Given the description of an element on the screen output the (x, y) to click on. 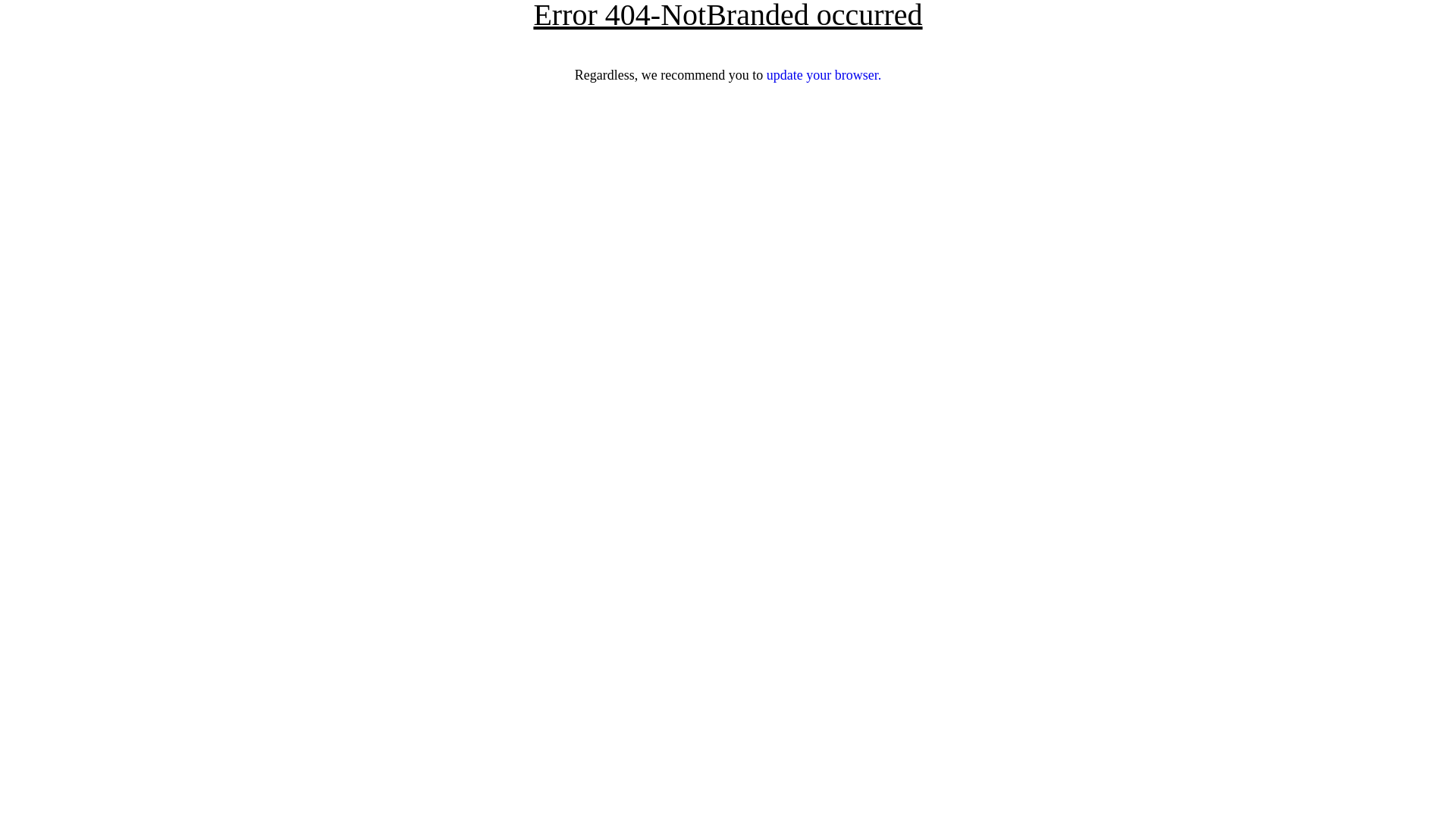
update your browser. Element type: text (823, 74)
